Given the description of an element on the screen output the (x, y) to click on. 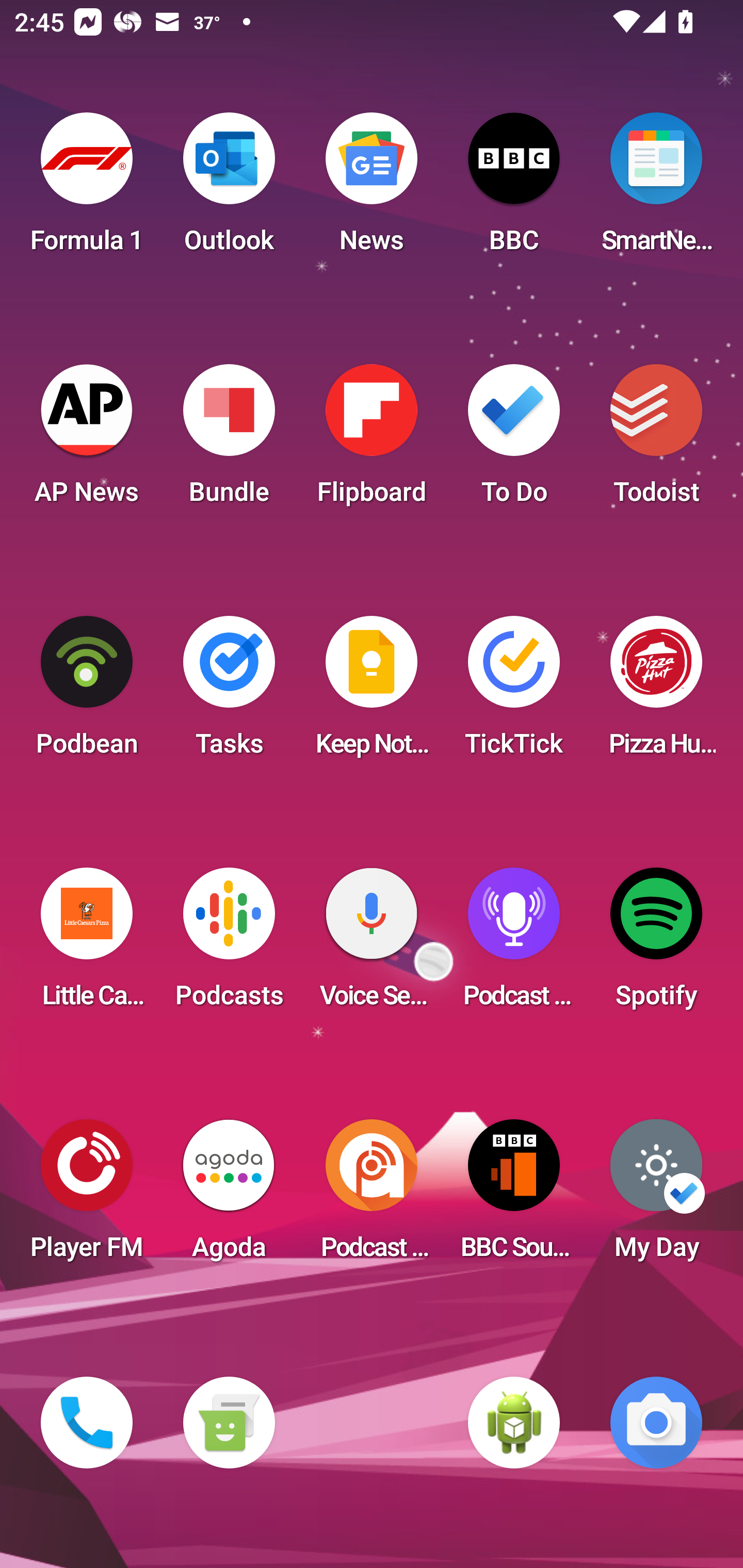
Formula 1 (86, 188)
Outlook (228, 188)
News (371, 188)
BBC (513, 188)
SmartNews (656, 188)
AP News (86, 440)
Bundle (228, 440)
Flipboard (371, 440)
To Do (513, 440)
Todoist (656, 440)
Podbean (86, 692)
Tasks (228, 692)
Keep Notes (371, 692)
TickTick (513, 692)
Pizza Hut HK & Macau (656, 692)
Little Caesars Pizza (86, 943)
Podcasts (228, 943)
Voice Search (371, 943)
Podcast Player (513, 943)
Spotify (656, 943)
Player FM (86, 1195)
Agoda (228, 1195)
Podcast Addict (371, 1195)
BBC Sounds (513, 1195)
My Day (656, 1195)
Phone (86, 1422)
Messaging (228, 1422)
WebView Browser Tester (513, 1422)
Camera (656, 1422)
